Given the description of an element on the screen output the (x, y) to click on. 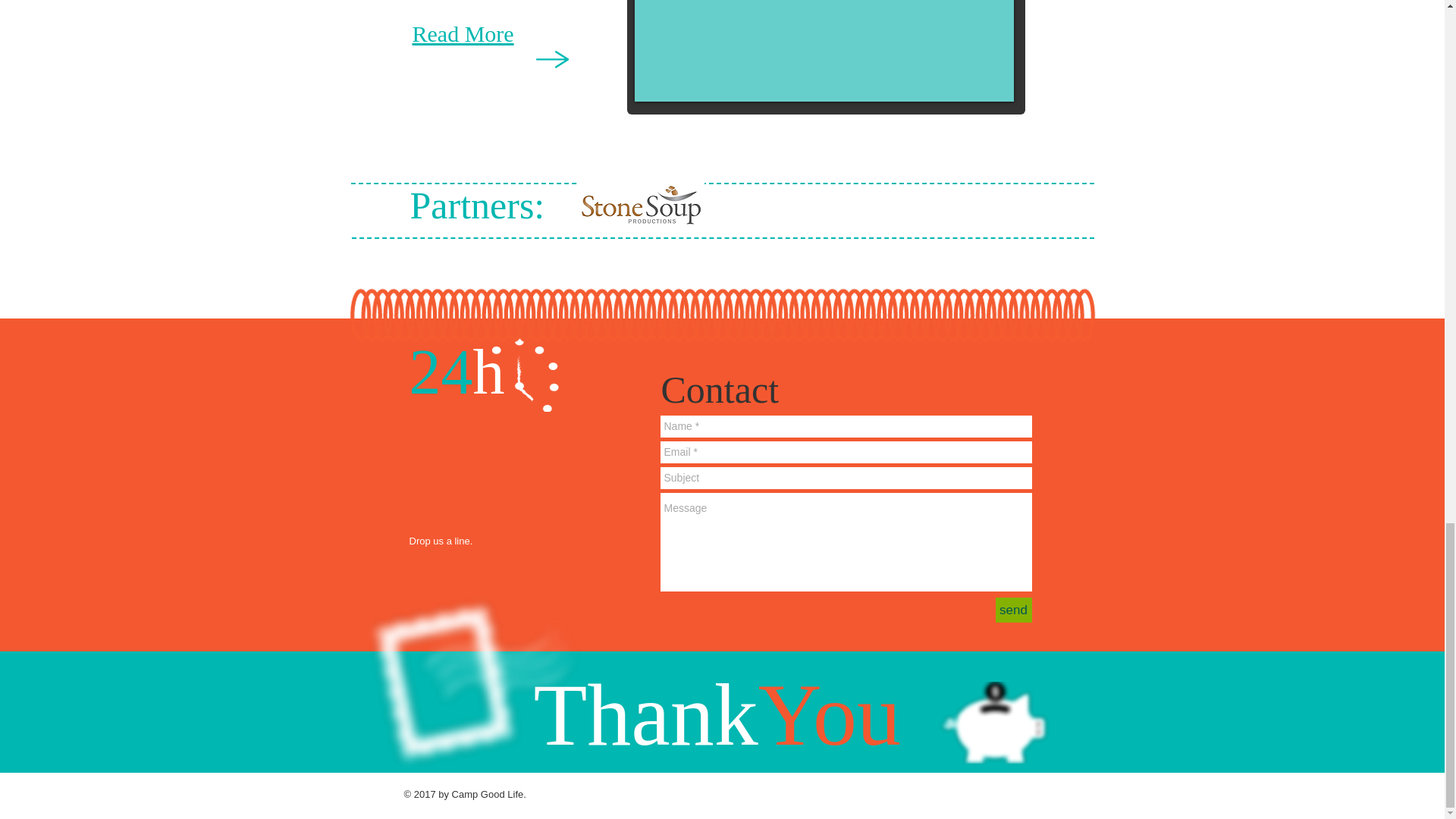
External Vimeo (823, 49)
